Given the description of an element on the screen output the (x, y) to click on. 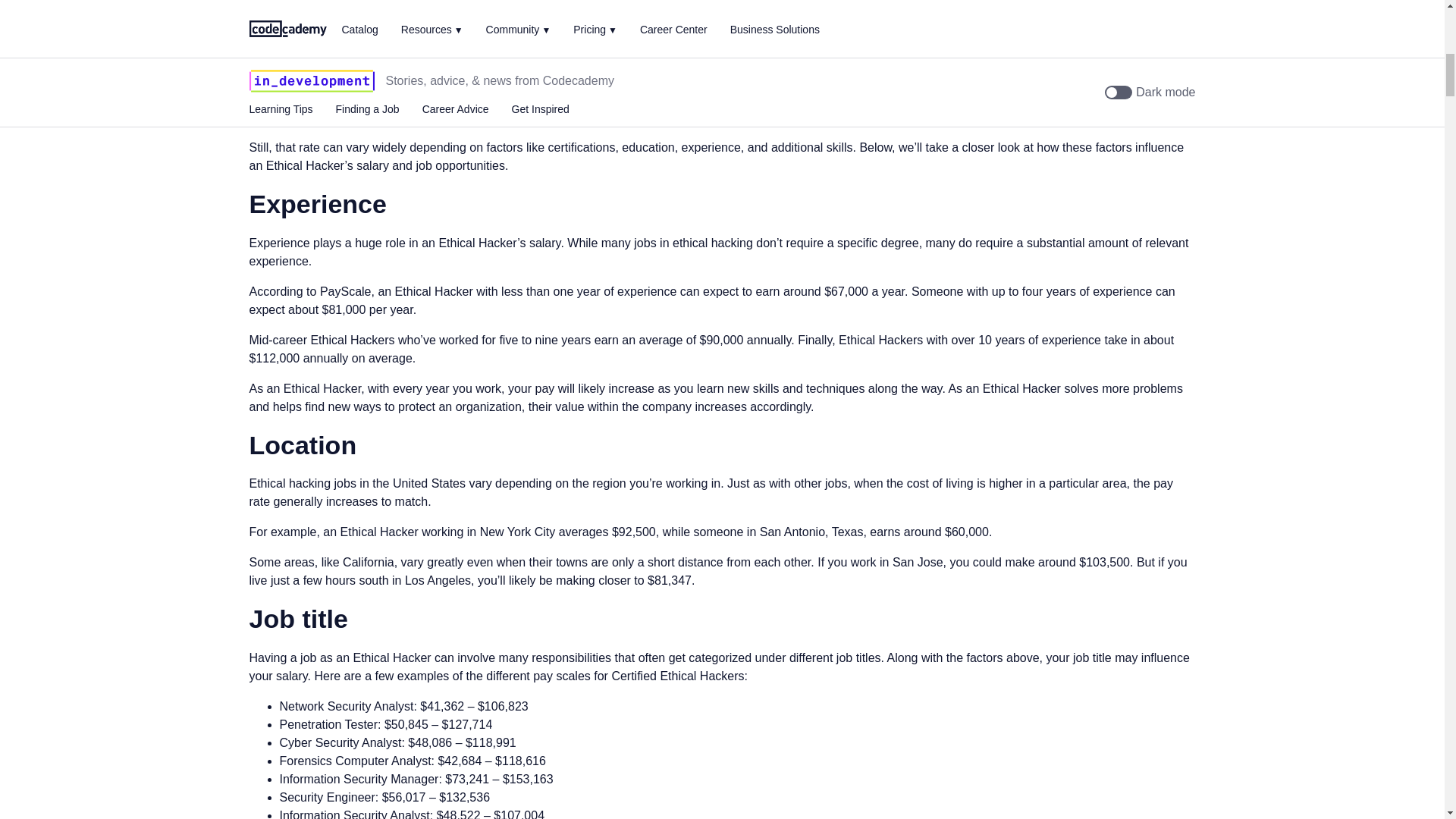
Ethical Hackers (484, 80)
Share article on LinkedIn (336, 5)
cybersecurity (456, 50)
